Given the description of an element on the screen output the (x, y) to click on. 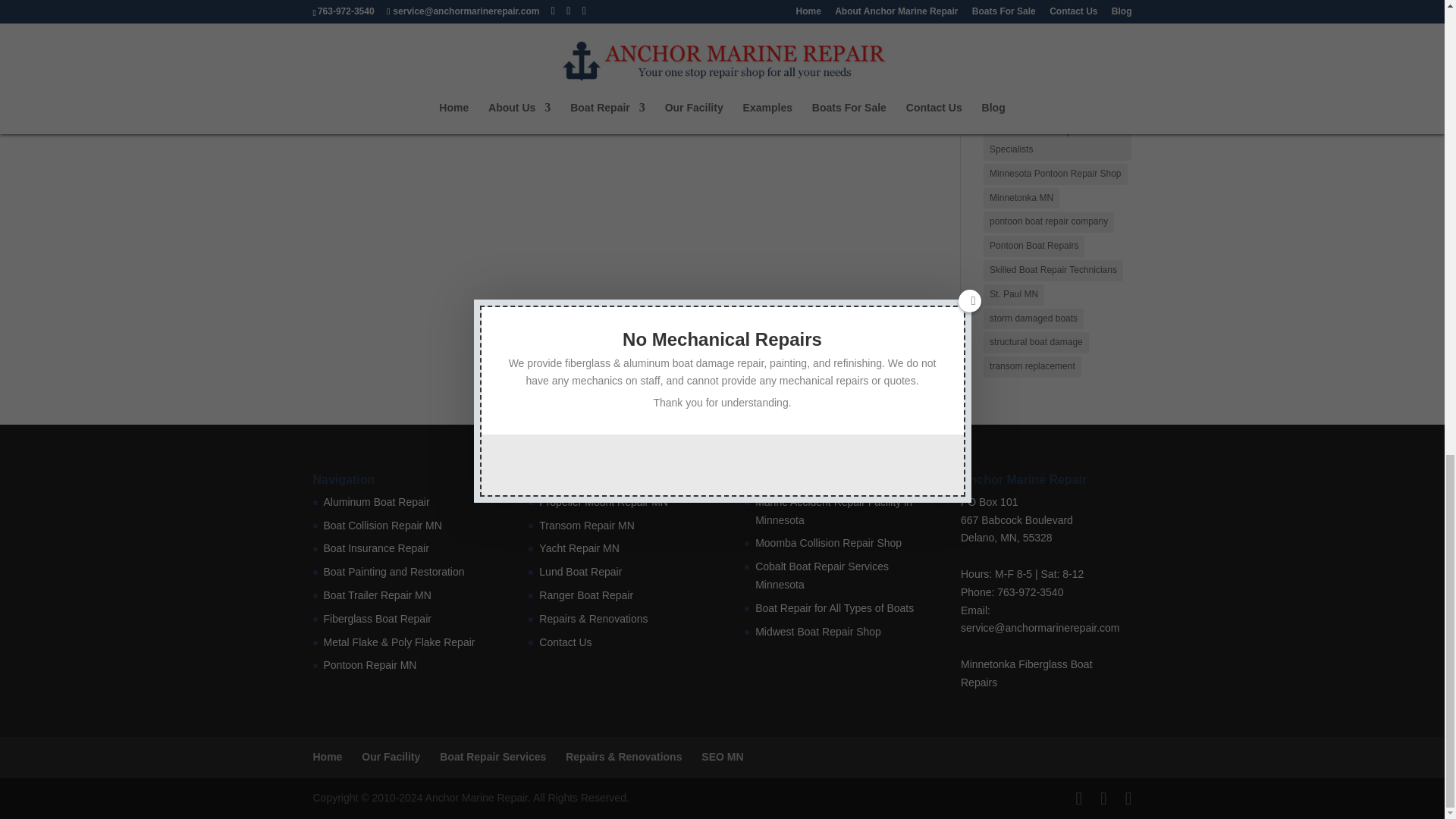
Minnesota Search Engine Optimization Services (721, 756)
